Given the description of an element on the screen output the (x, y) to click on. 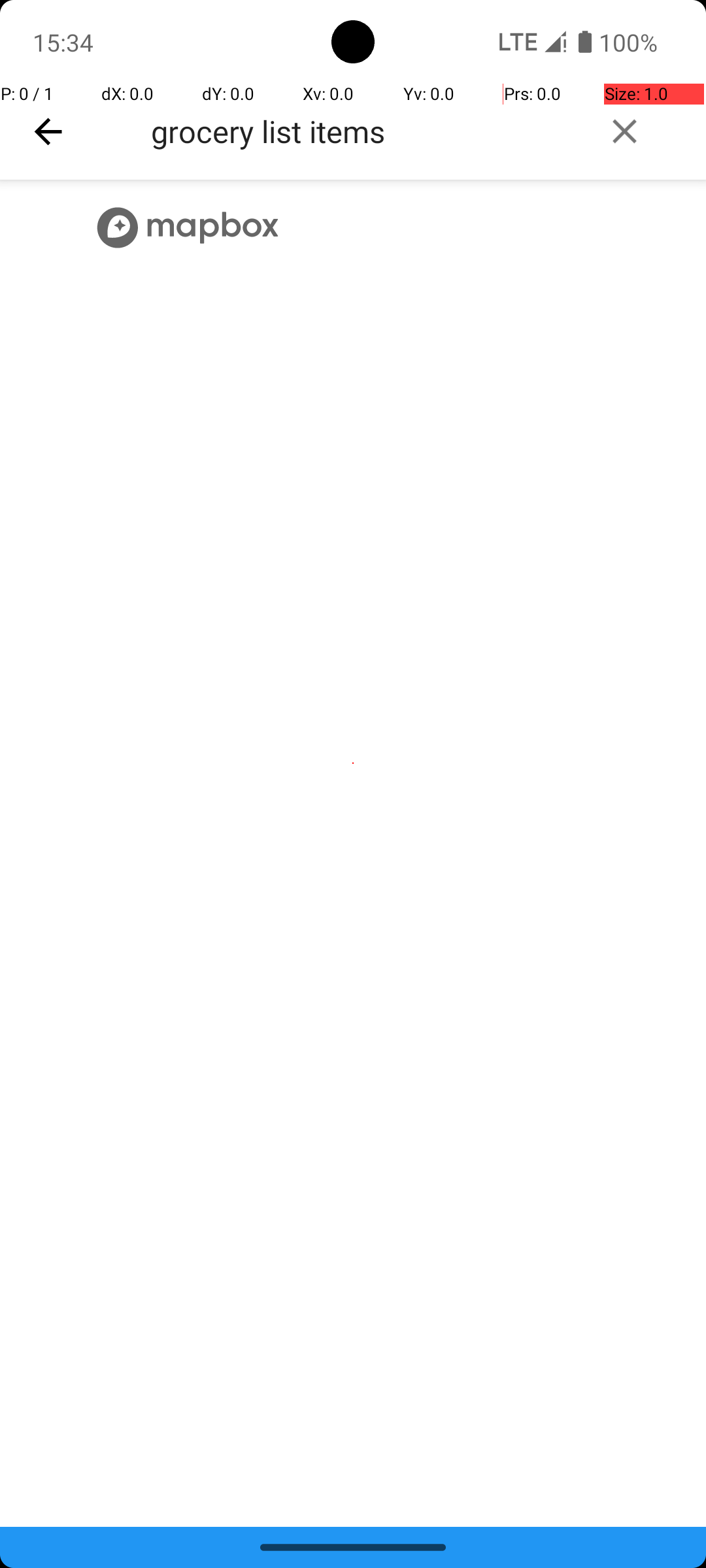
grocery list items Element type: android.widget.AutoCompleteTextView (363, 130)
